Given the description of an element on the screen output the (x, y) to click on. 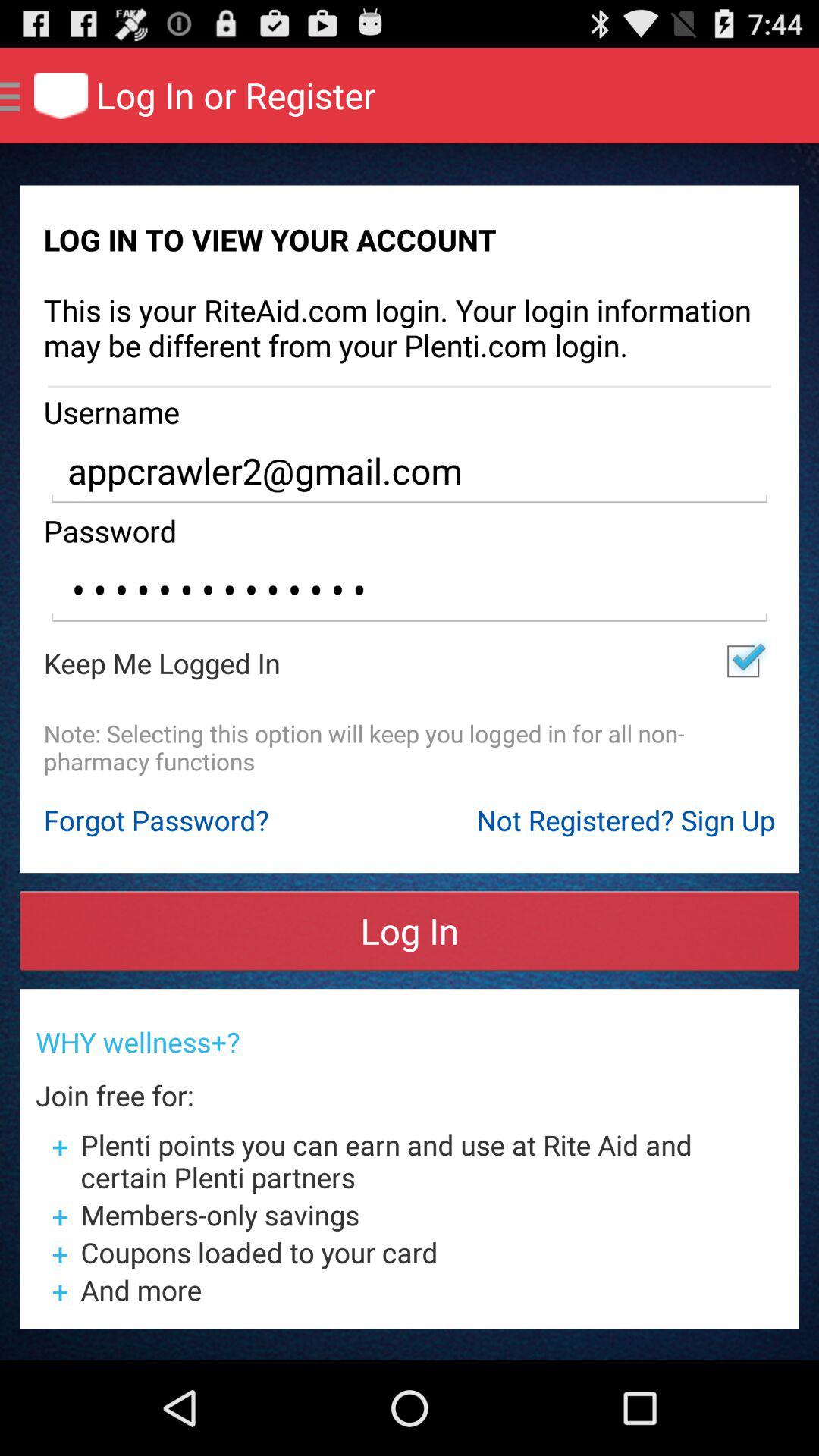
choose the item above the note selecting this item (743, 661)
